Given the description of an element on the screen output the (x, y) to click on. 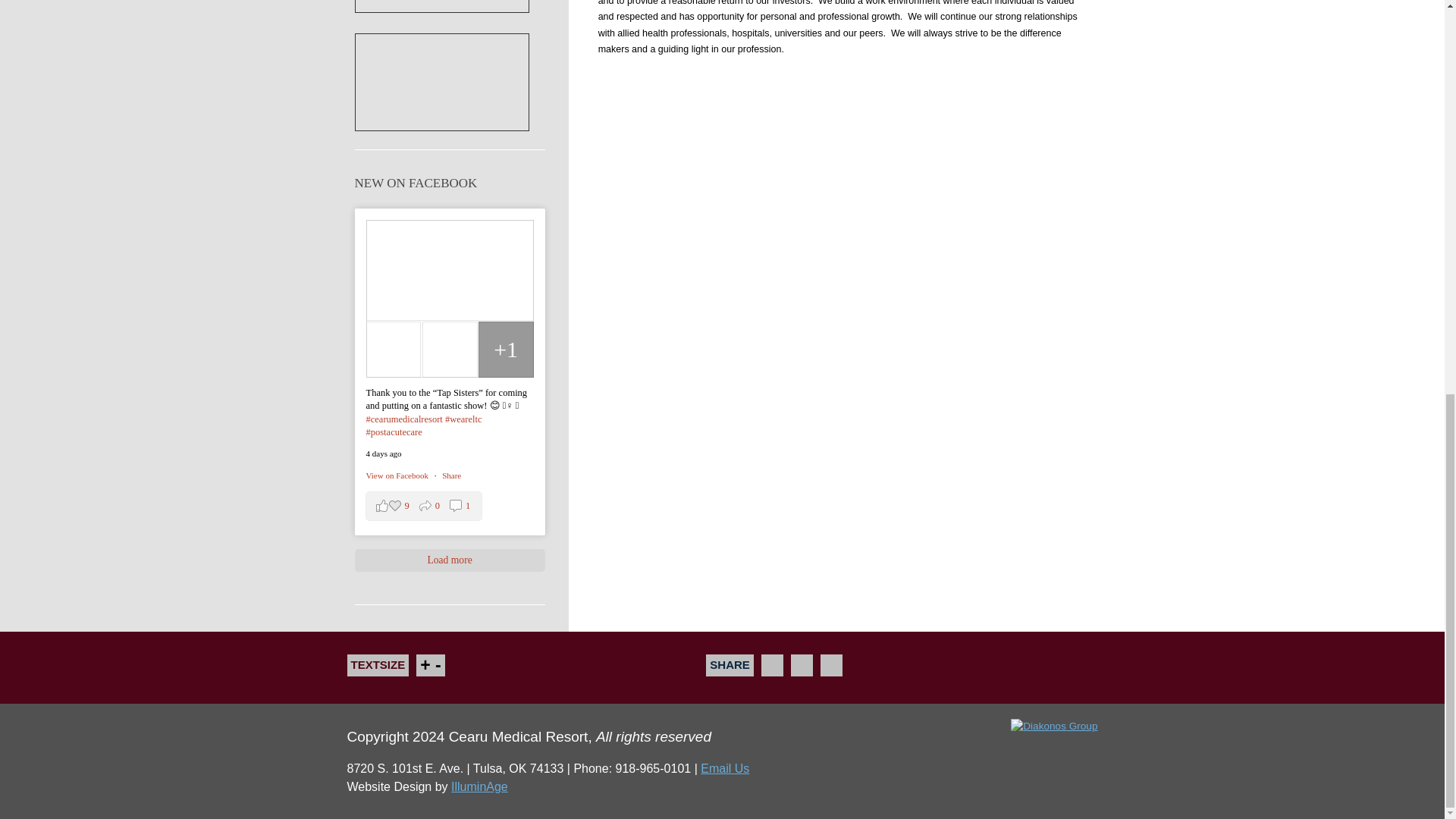
Share (451, 474)
View on Facebook (397, 474)
IlluminAge (479, 786)
View on Facebook (397, 474)
Load more (449, 559)
TWITTER (801, 665)
EMAIL (423, 506)
FACEBOOK (832, 665)
Share (772, 665)
Email Us (451, 474)
